Given the description of an element on the screen output the (x, y) to click on. 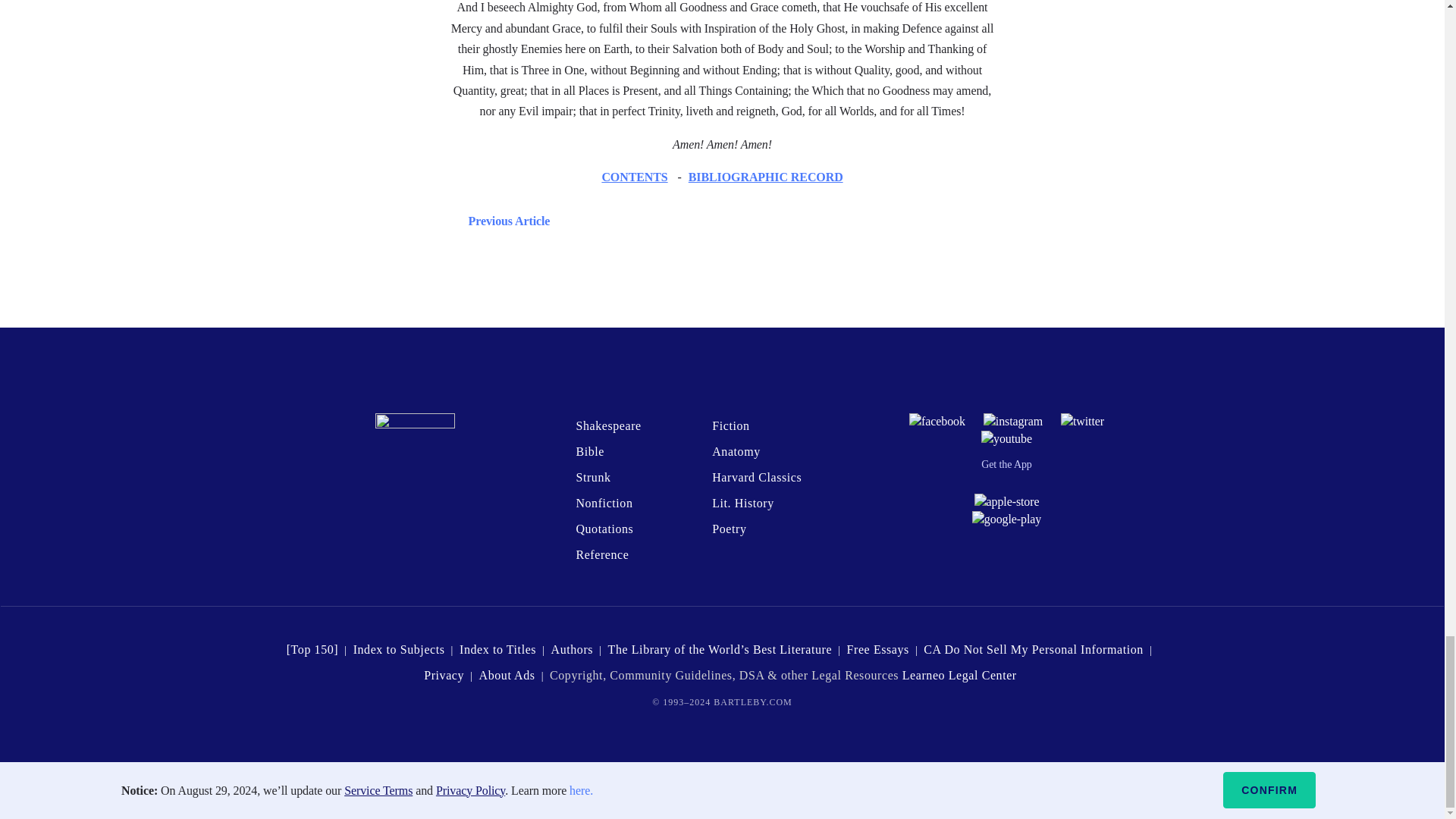
Shakespeare (607, 425)
Quotations (604, 528)
Bible (589, 451)
Reference (601, 554)
Nonfiction (603, 502)
Anatomy (735, 451)
CONTENTS (633, 176)
BIBLIOGRAPHIC RECORD (765, 176)
Previous Article (505, 220)
Strunk (592, 477)
Fiction (730, 425)
Harvard Classics (756, 477)
Lit. History (742, 502)
Poetry (728, 528)
